Given the description of an element on the screen output the (x, y) to click on. 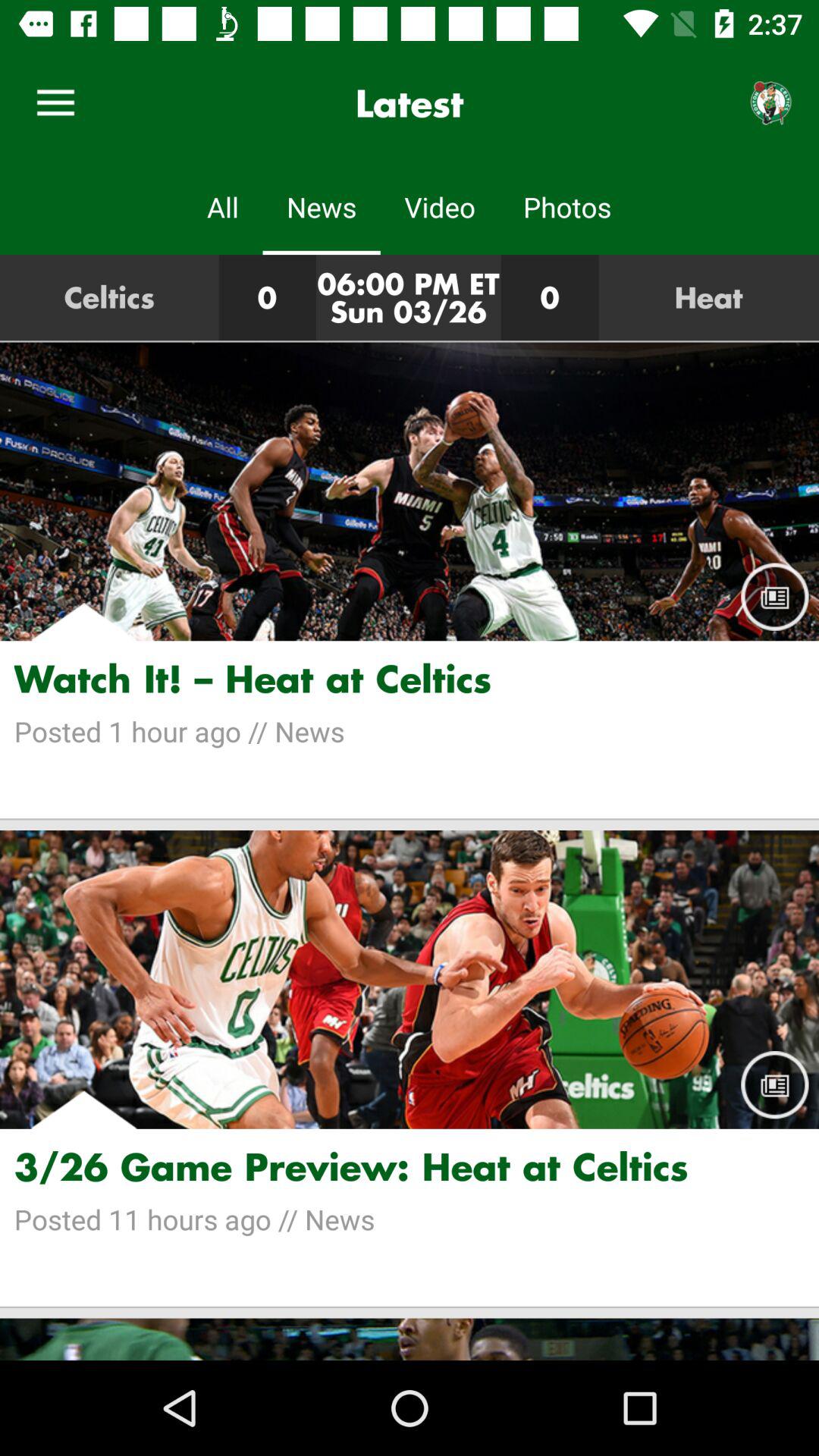
scroll until posted 1 hour item (409, 731)
